Given the description of an element on the screen output the (x, y) to click on. 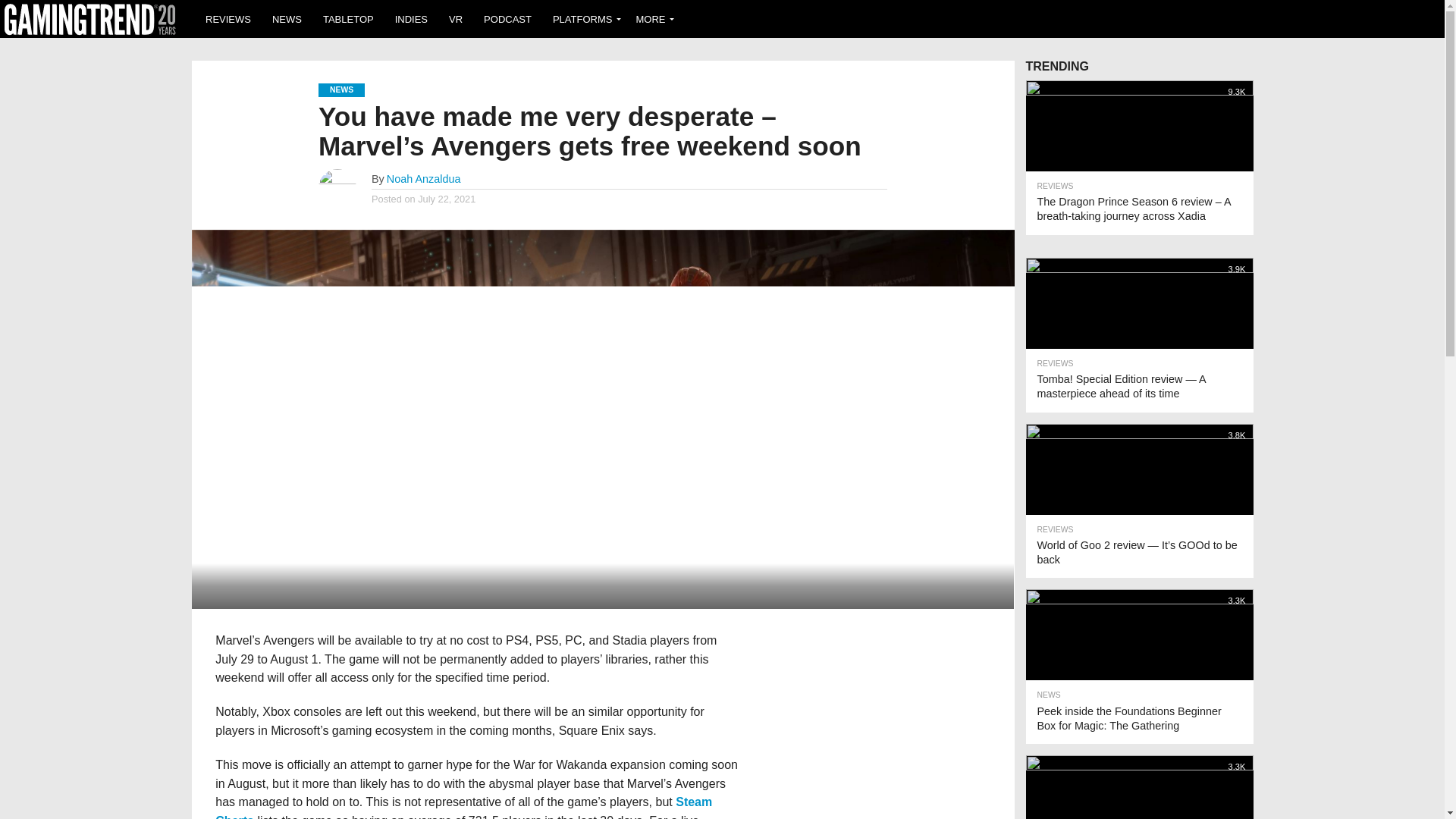
REVIEWS (228, 18)
INDIES (411, 18)
NEWS (287, 18)
TABLETOP (348, 18)
